Given the description of an element on the screen output the (x, y) to click on. 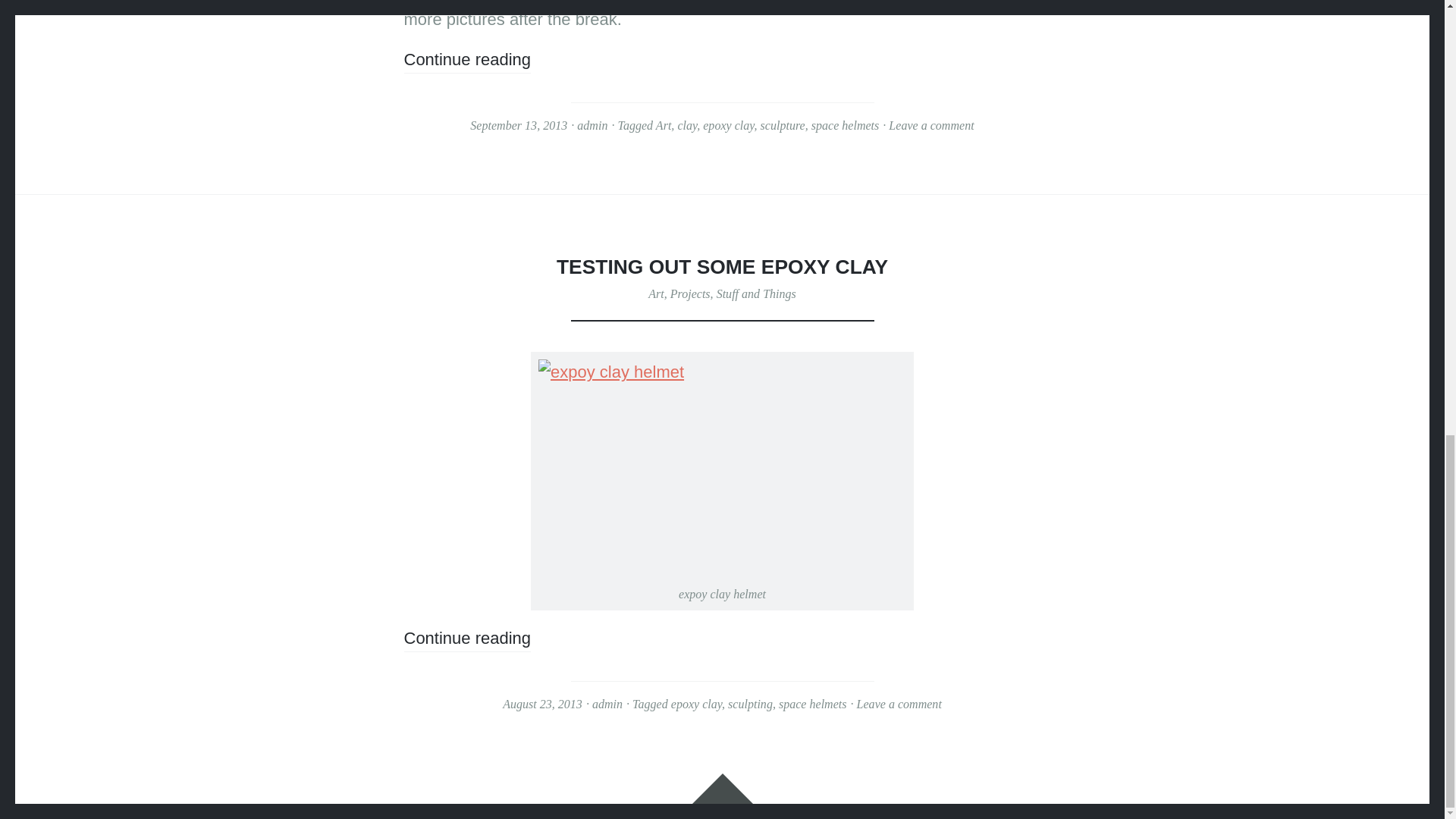
Art (663, 124)
sculpting (750, 703)
Continue reading (467, 61)
September 13, 2013 (518, 124)
admin (591, 124)
Art (655, 293)
TESTING OUT SOME EPOXY CLAY (722, 266)
clay (687, 124)
epoxy clay (696, 703)
Leave a comment (899, 703)
epoxy clay (728, 124)
space helmets (844, 124)
Stuff and Things (756, 293)
sculpture (782, 124)
Widgets (721, 788)
